Given the description of an element on the screen output the (x, y) to click on. 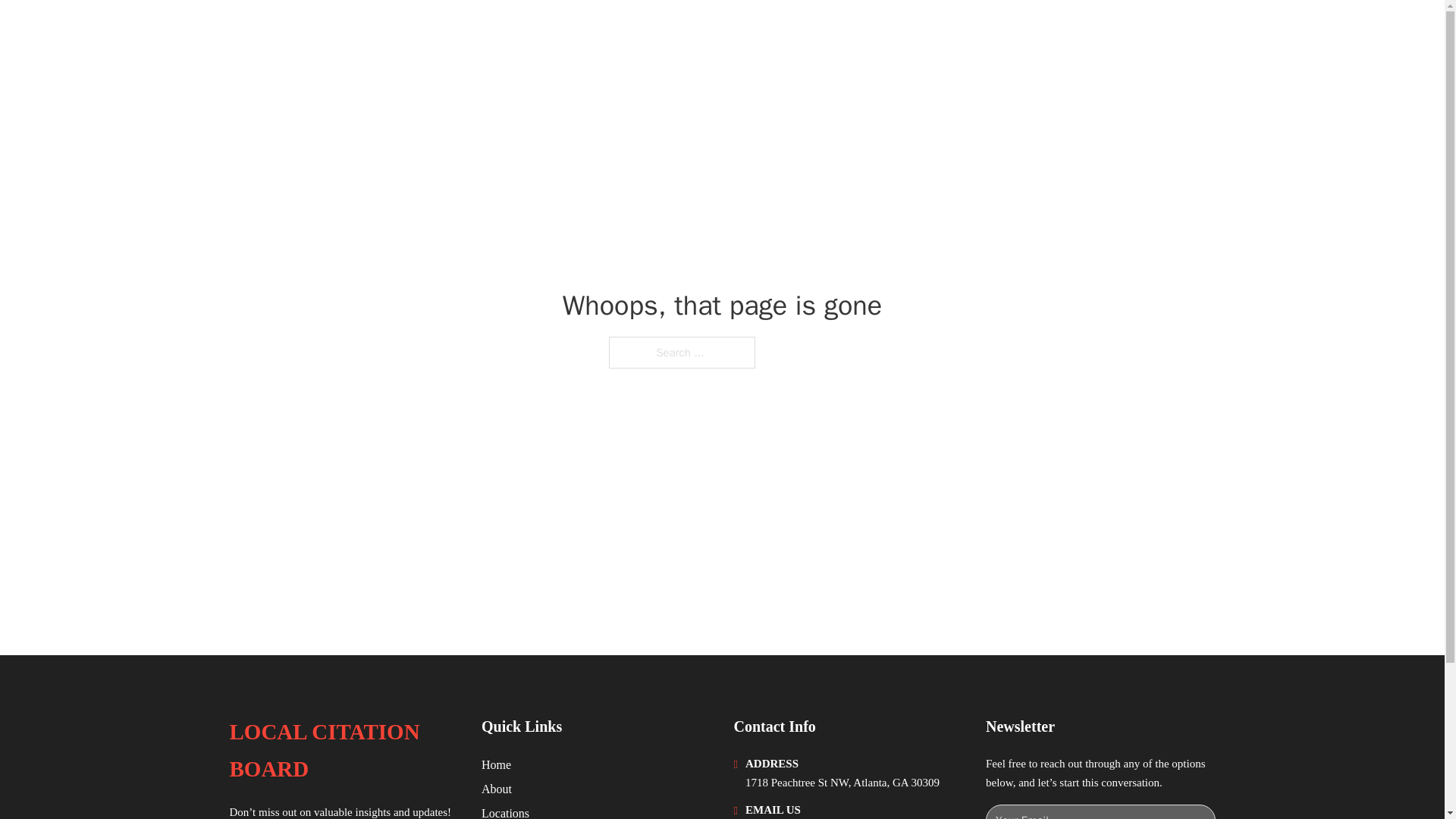
LOCAL CITATION BOARD (343, 750)
Locations (505, 811)
Home (496, 764)
About (496, 788)
LOCAL CITATION BOARD (380, 31)
LOCATIONS (1098, 31)
HOME (1025, 31)
